Given the description of an element on the screen output the (x, y) to click on. 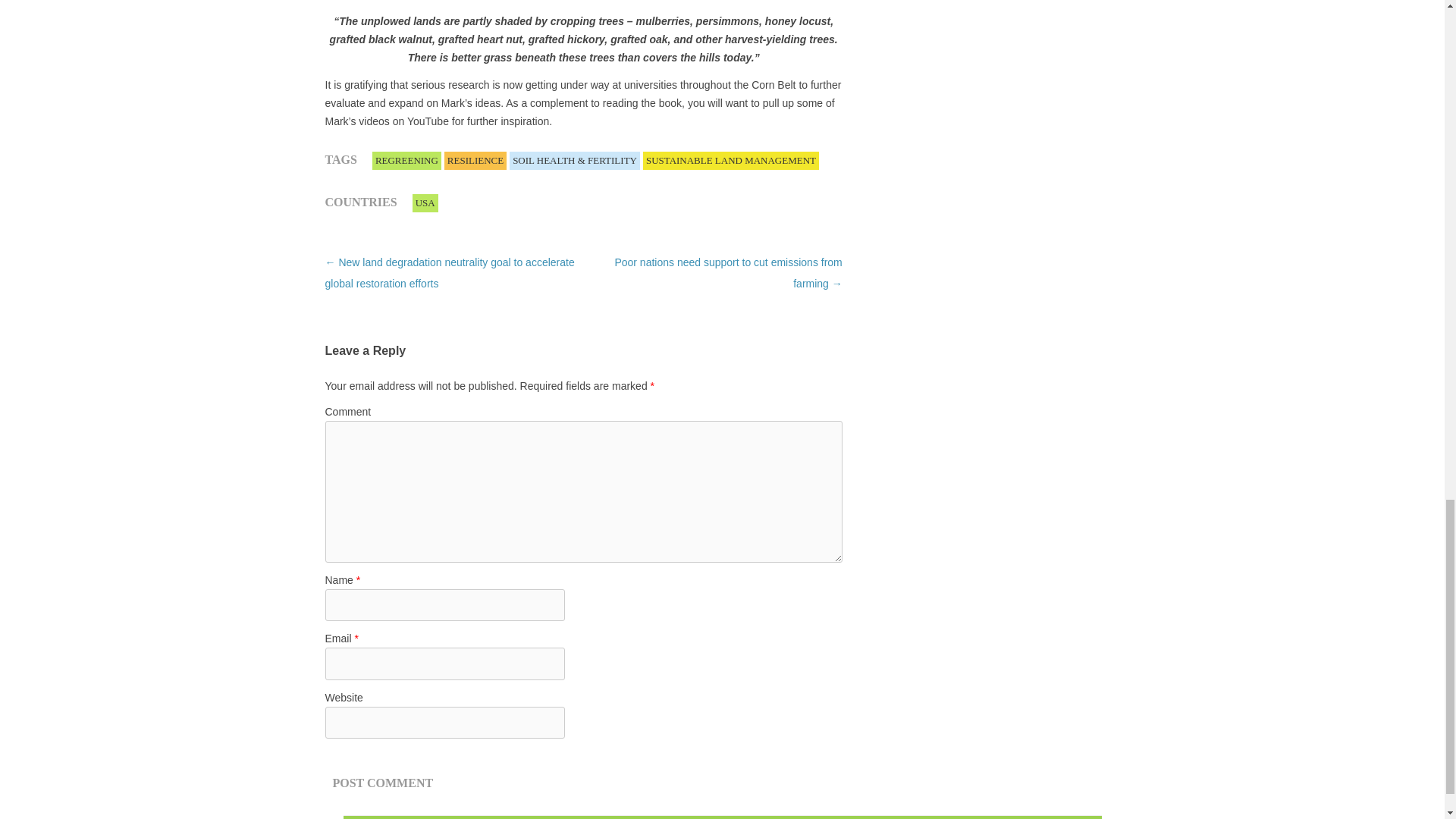
SUSTAINABLE LAND MANAGEMENT (730, 160)
RESILIENCE (474, 160)
USA (424, 202)
REGREENING (406, 160)
Post Comment (382, 783)
